Given the description of an element on the screen output the (x, y) to click on. 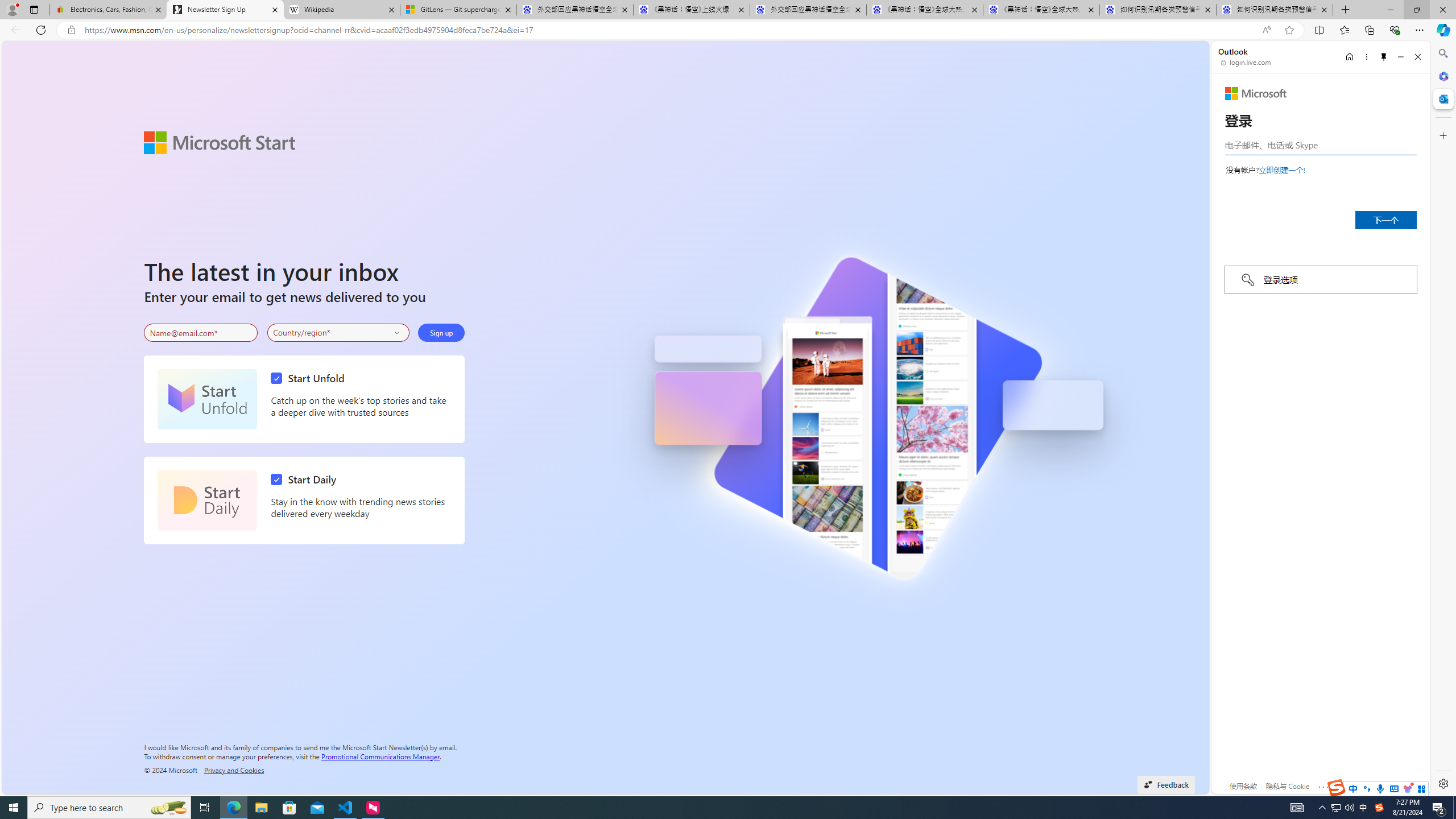
login.live.com (1246, 61)
Start Daily (306, 479)
Newsletter Sign Up (224, 9)
